Given the description of an element on the screen output the (x, y) to click on. 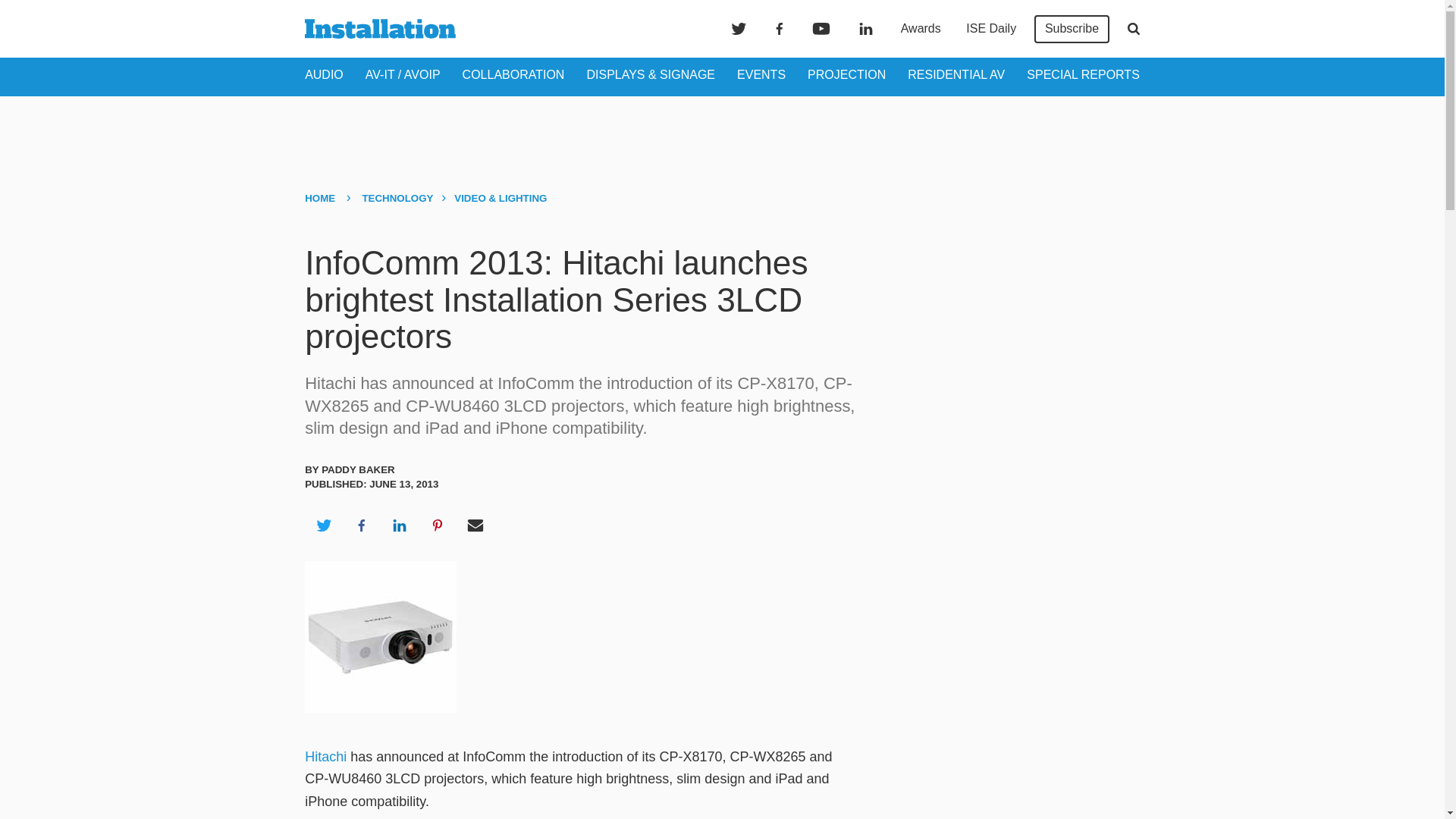
COLLABORATION (513, 74)
Share on Facebook (361, 525)
Subscribe (1071, 29)
Share on LinkedIn (399, 525)
Share on Pinterest (438, 525)
AUDIO (323, 74)
Paddy Baker's Author Profile (357, 469)
Share on Twitter (323, 525)
Awards (921, 29)
Share via Email (476, 525)
